Given the description of an element on the screen output the (x, y) to click on. 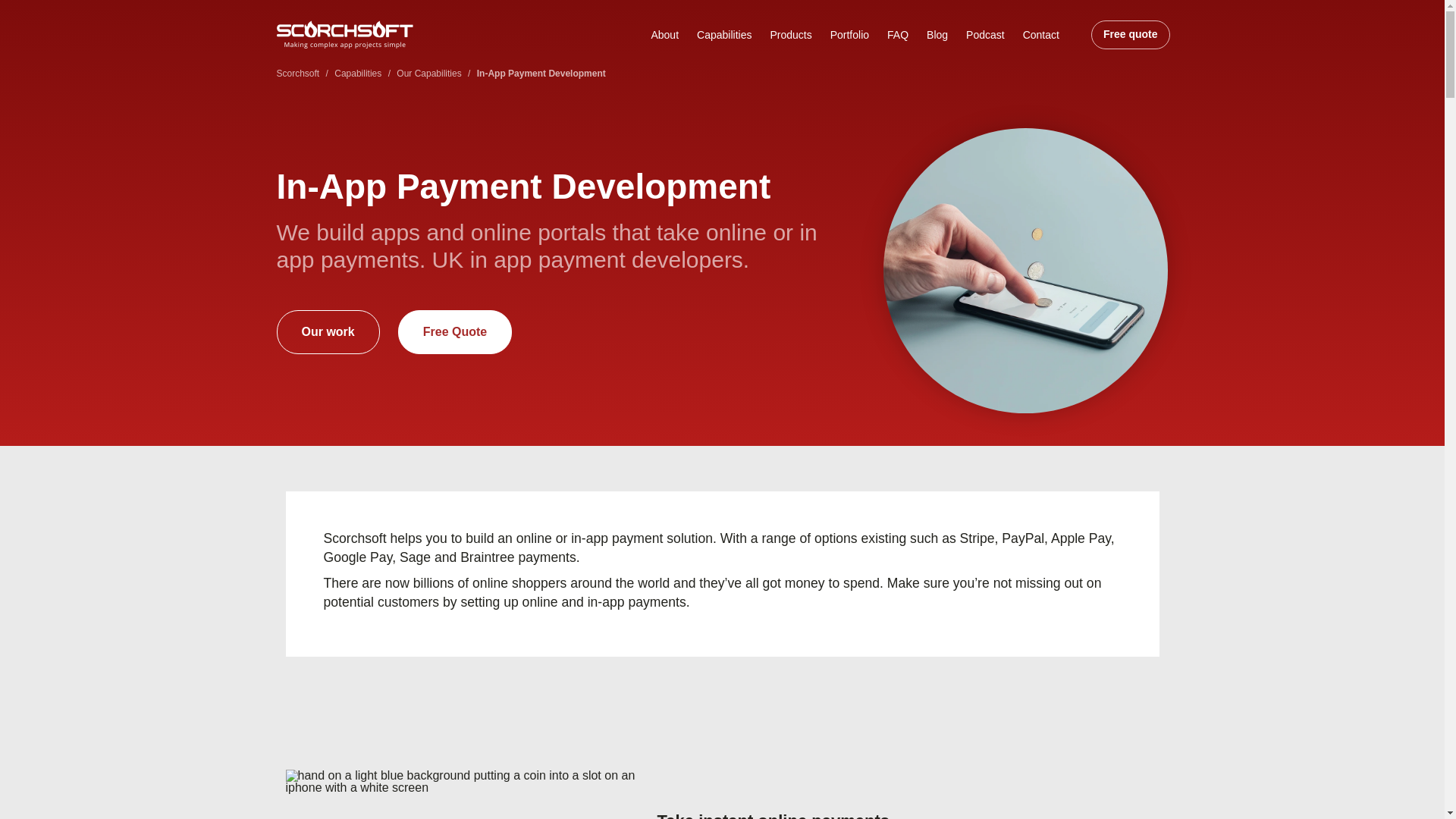
Free quote (1130, 34)
Our Capabilities (428, 72)
Free Quote (454, 331)
Quote (1130, 34)
Products (790, 34)
Capabilities (724, 34)
Our work (327, 331)
About (664, 34)
Scorchsoft (297, 72)
